Given the description of an element on the screen output the (x, y) to click on. 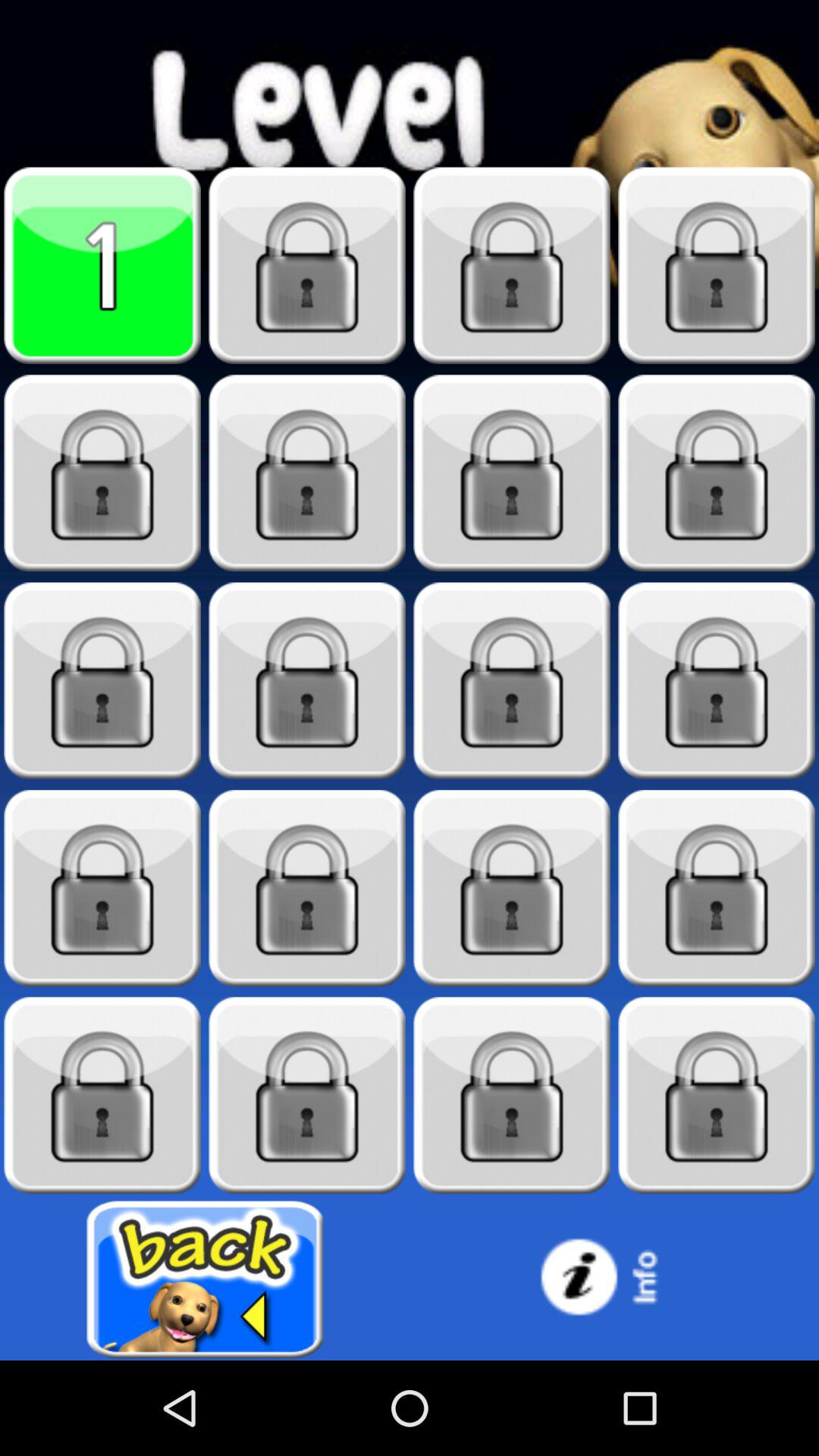
enter level 19 (511, 1094)
